Given the description of an element on the screen output the (x, y) to click on. 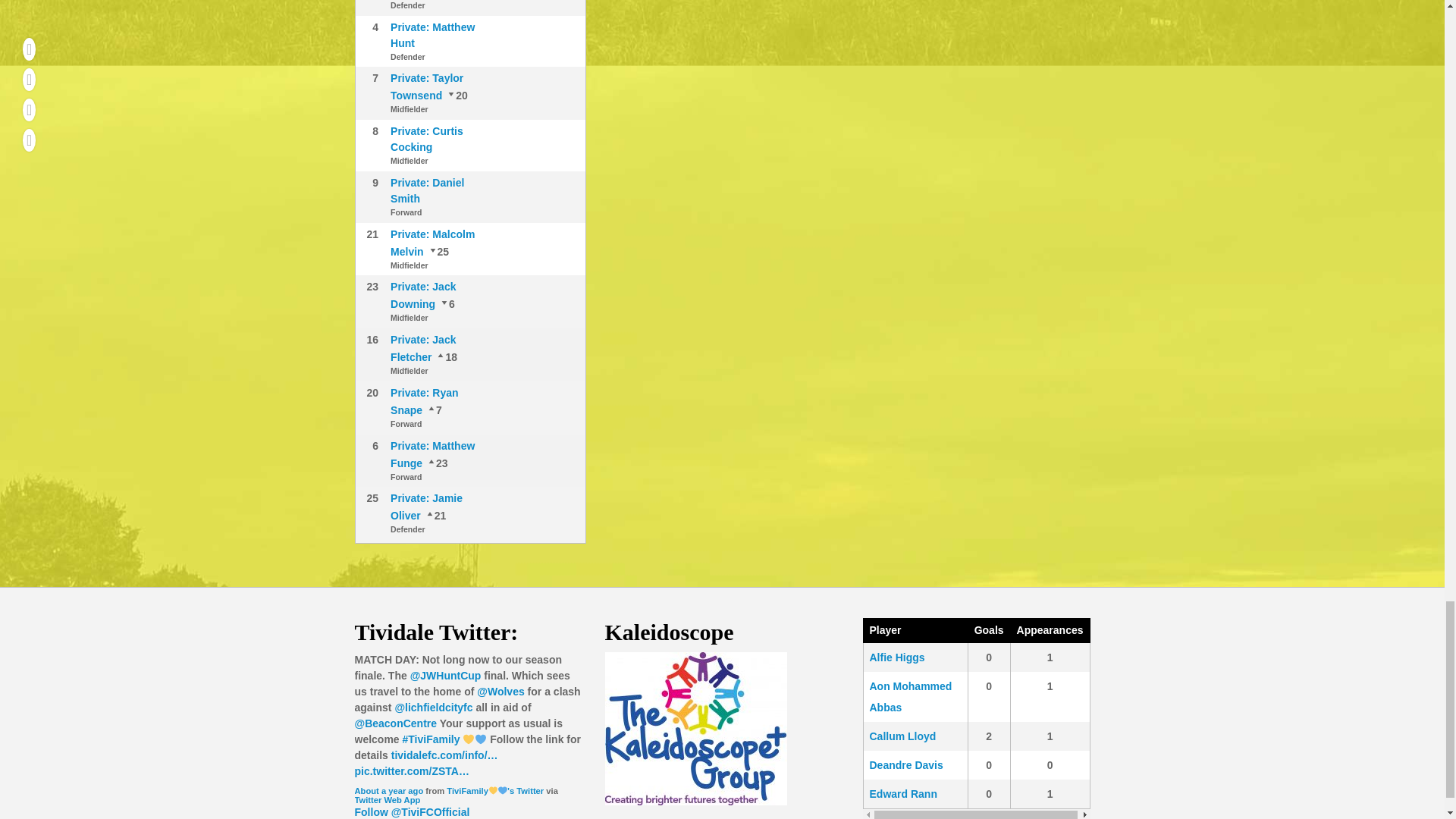
Private: Taylor Townsend (433, 410)
Private: Taylor Townsend (426, 86)
Private: Matthew Hunt (432, 35)
Wolves (500, 691)
Private: Malcolm Melvin (434, 515)
Private: Ryan Snape (456, 95)
Private: Curtis Cocking (426, 139)
Private: Jason Wood (445, 357)
